Given the description of an element on the screen output the (x, y) to click on. 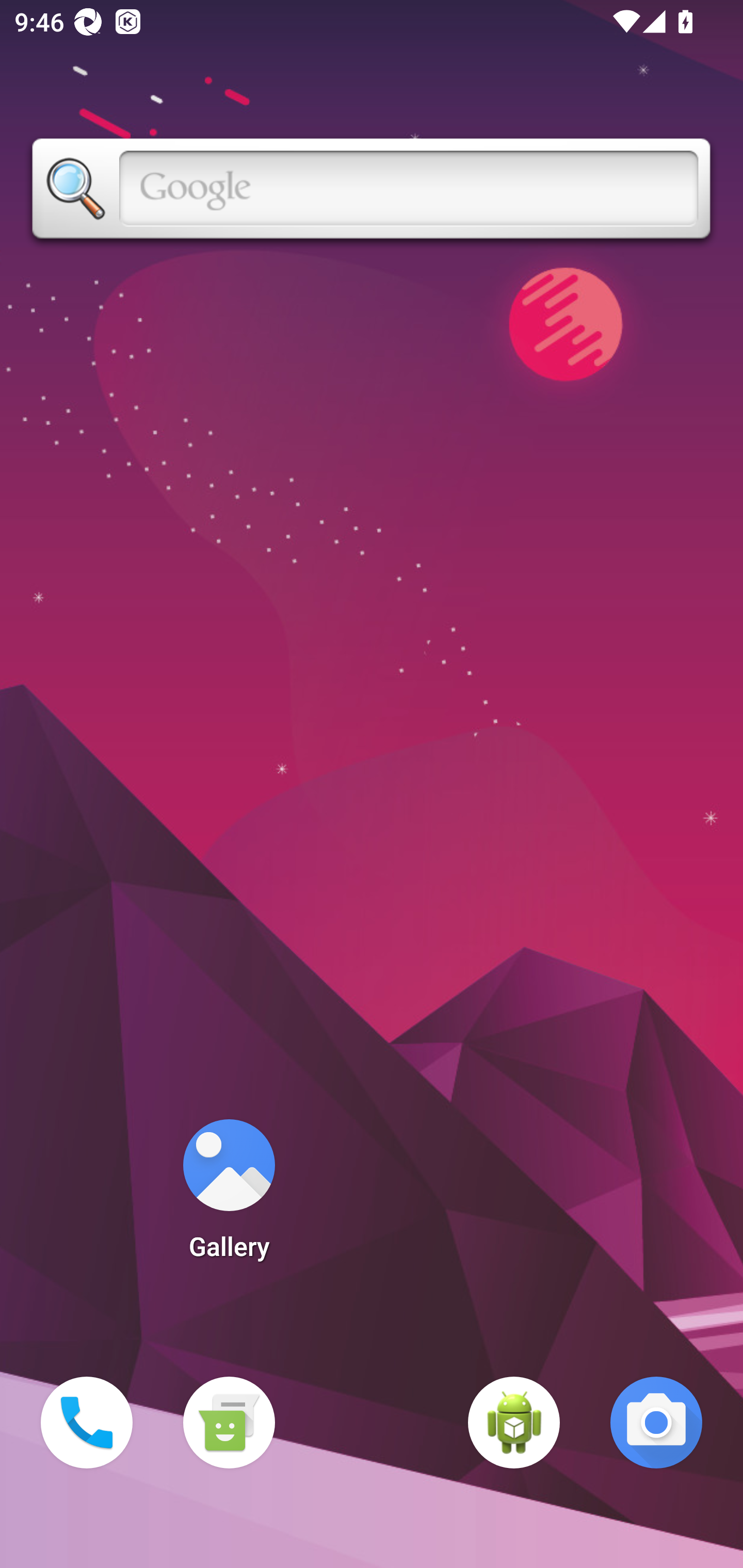
Gallery (228, 1195)
Phone (86, 1422)
Messaging (228, 1422)
WebView Browser Tester (513, 1422)
Camera (656, 1422)
